Given the description of an element on the screen output the (x, y) to click on. 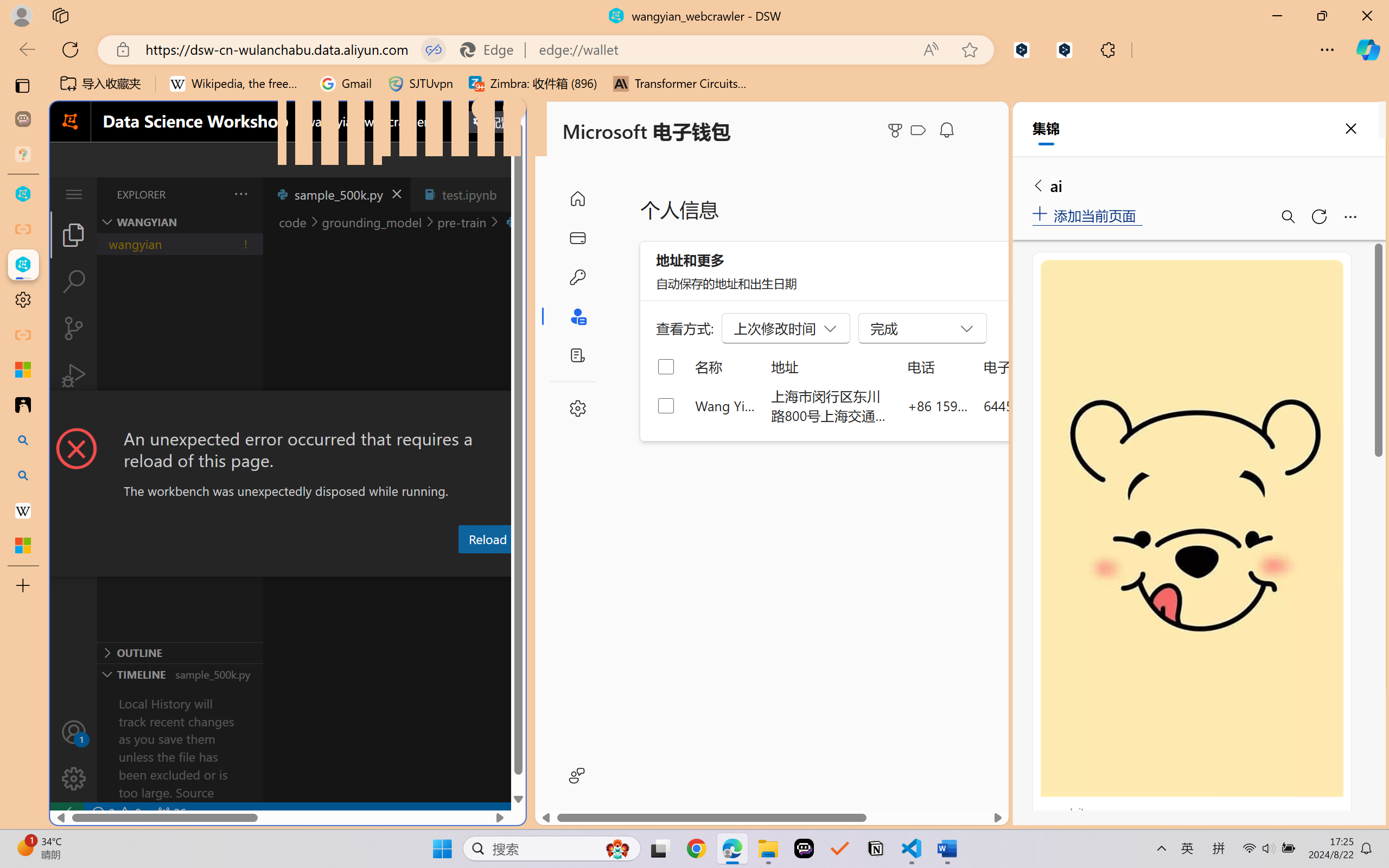
Extensions (Ctrl+Shift+X) (73, 422)
Close (Ctrl+F4) (512, 194)
Class: actions-container (287, 410)
Copilot (Ctrl+Shift+.) (1368, 49)
No Problems (115, 812)
wangyian_webcrawler - DSW (22, 264)
Manage (73, 755)
